Given the description of an element on the screen output the (x, y) to click on. 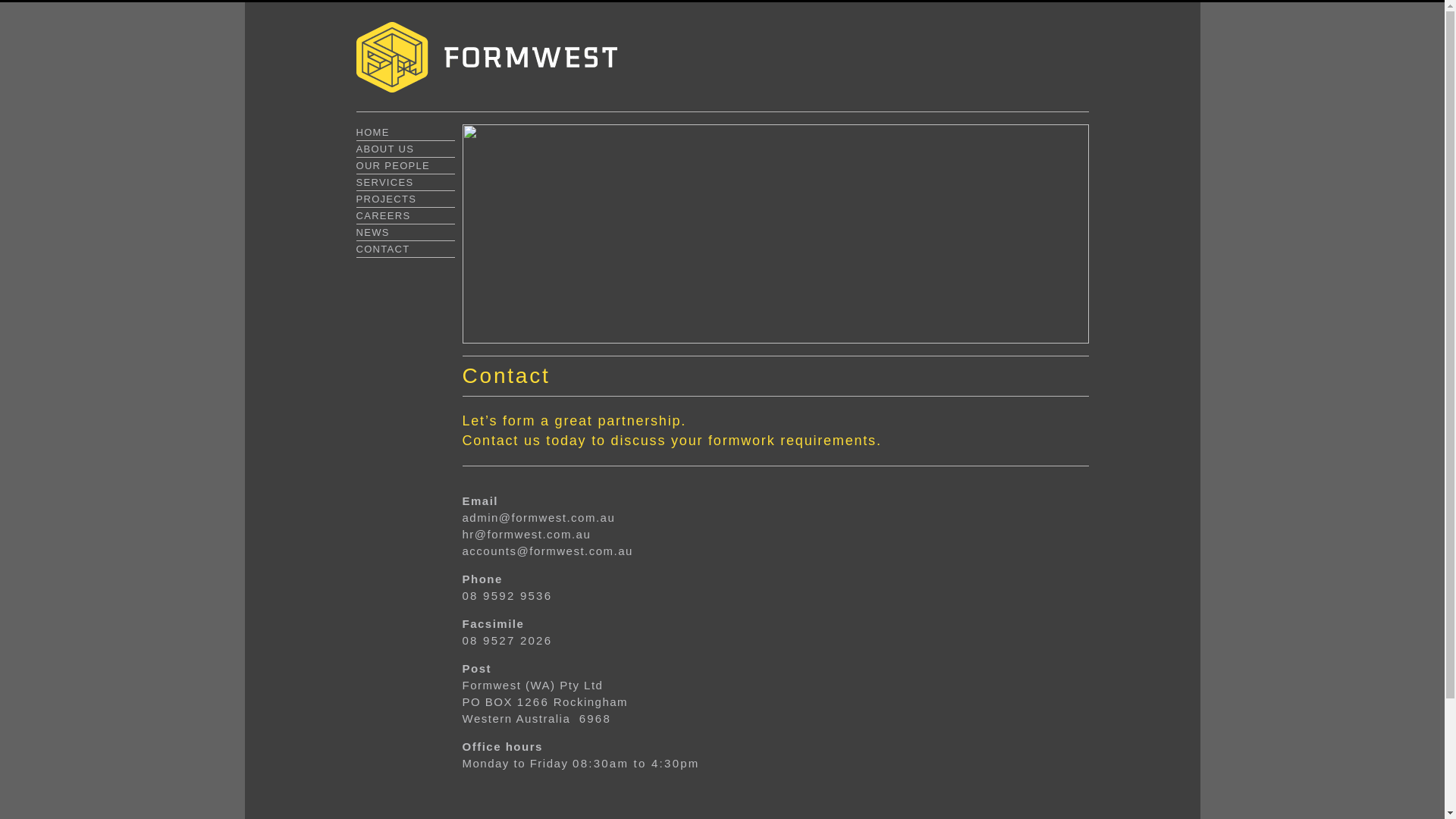
HOME Element type: text (372, 130)
hr@formwest.com.au Element type: text (526, 533)
CAREERS Element type: text (383, 213)
PROJECTS Element type: text (386, 196)
OUR PEOPLE Element type: text (393, 163)
SERVICES Element type: text (385, 180)
accounts@formwest.com.au Element type: text (547, 550)
admin@formwest.com.au Element type: text (538, 517)
NEWS Element type: text (372, 230)
CONTACT Element type: text (383, 246)
08 9592 9536 Element type: text (507, 595)
ABOUT US Element type: text (385, 146)
